Given the description of an element on the screen output the (x, y) to click on. 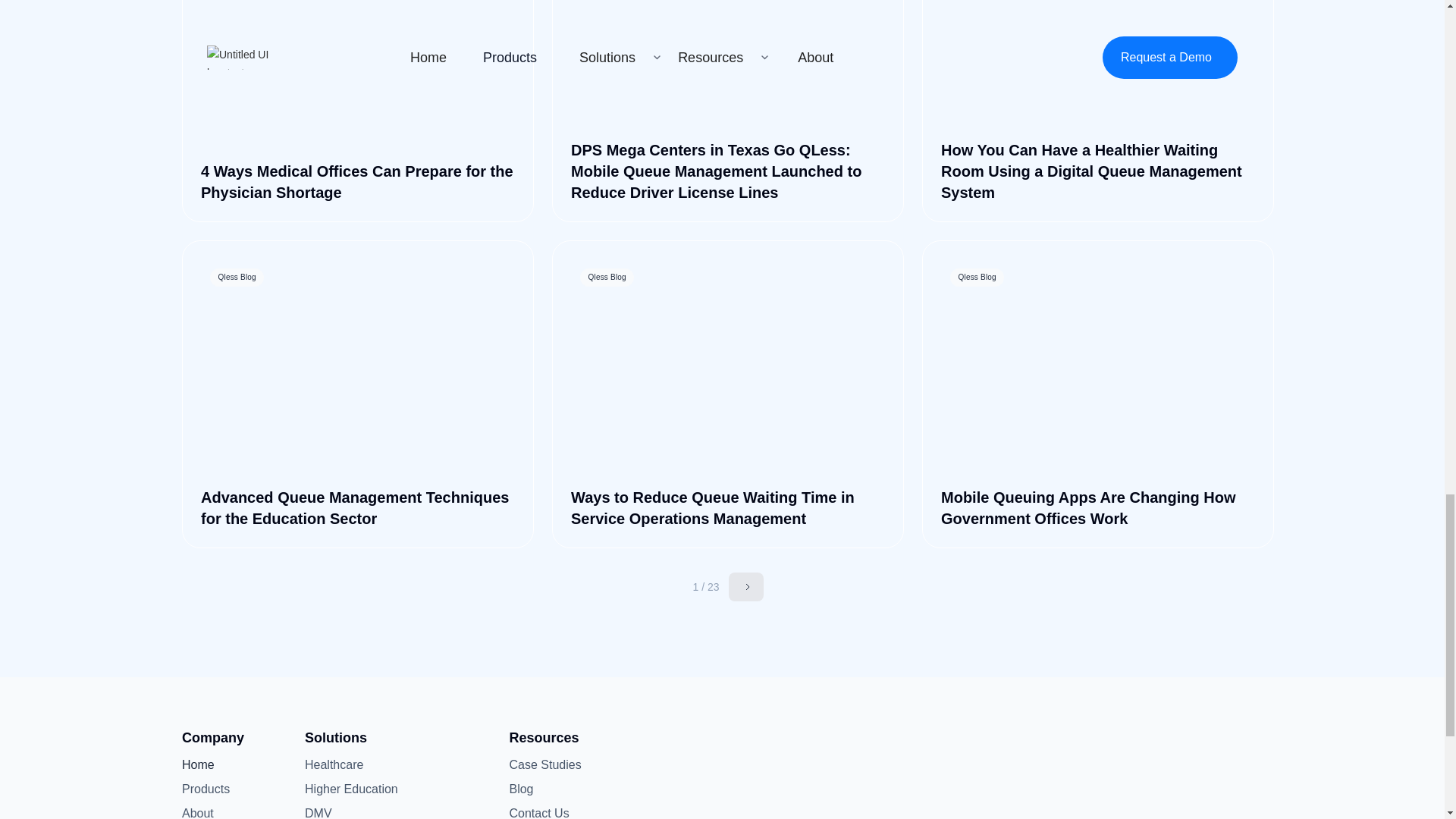
Qless Blog (1097, 369)
Qless Blog (727, 65)
About (206, 811)
Qless Blog (357, 369)
Qless Blog (357, 65)
Qless Blog (1097, 65)
Healthcare (333, 764)
Higher Education (350, 789)
Qless Blog (727, 369)
Products (206, 789)
Home (206, 764)
